Given the description of an element on the screen output the (x, y) to click on. 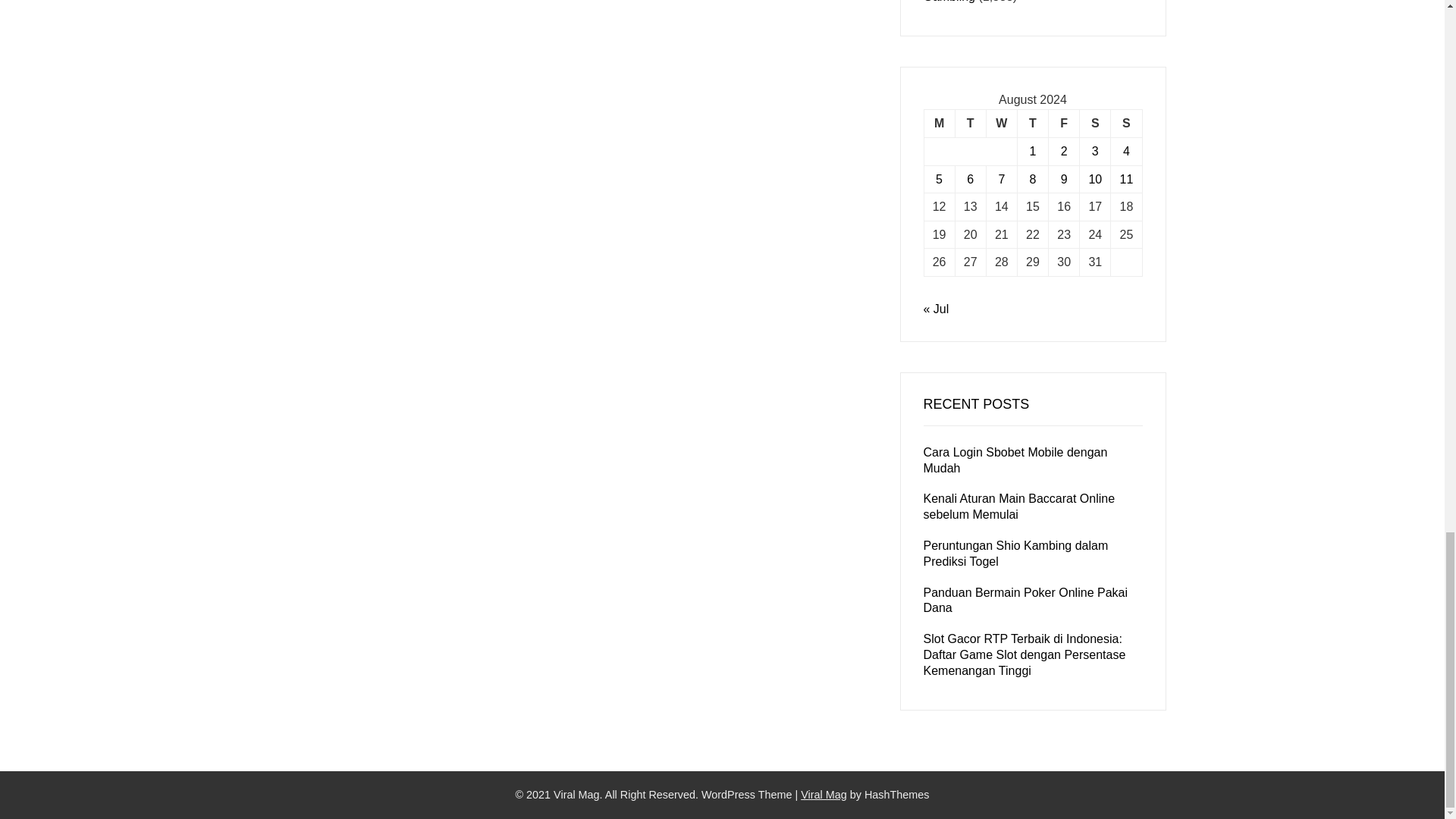
Thursday (1032, 123)
Wednesday (1000, 123)
Friday (1064, 123)
Monday (939, 123)
Sunday (1125, 123)
Saturday (1095, 123)
Download Viral News (823, 794)
Tuesday (970, 123)
